Given the description of an element on the screen output the (x, y) to click on. 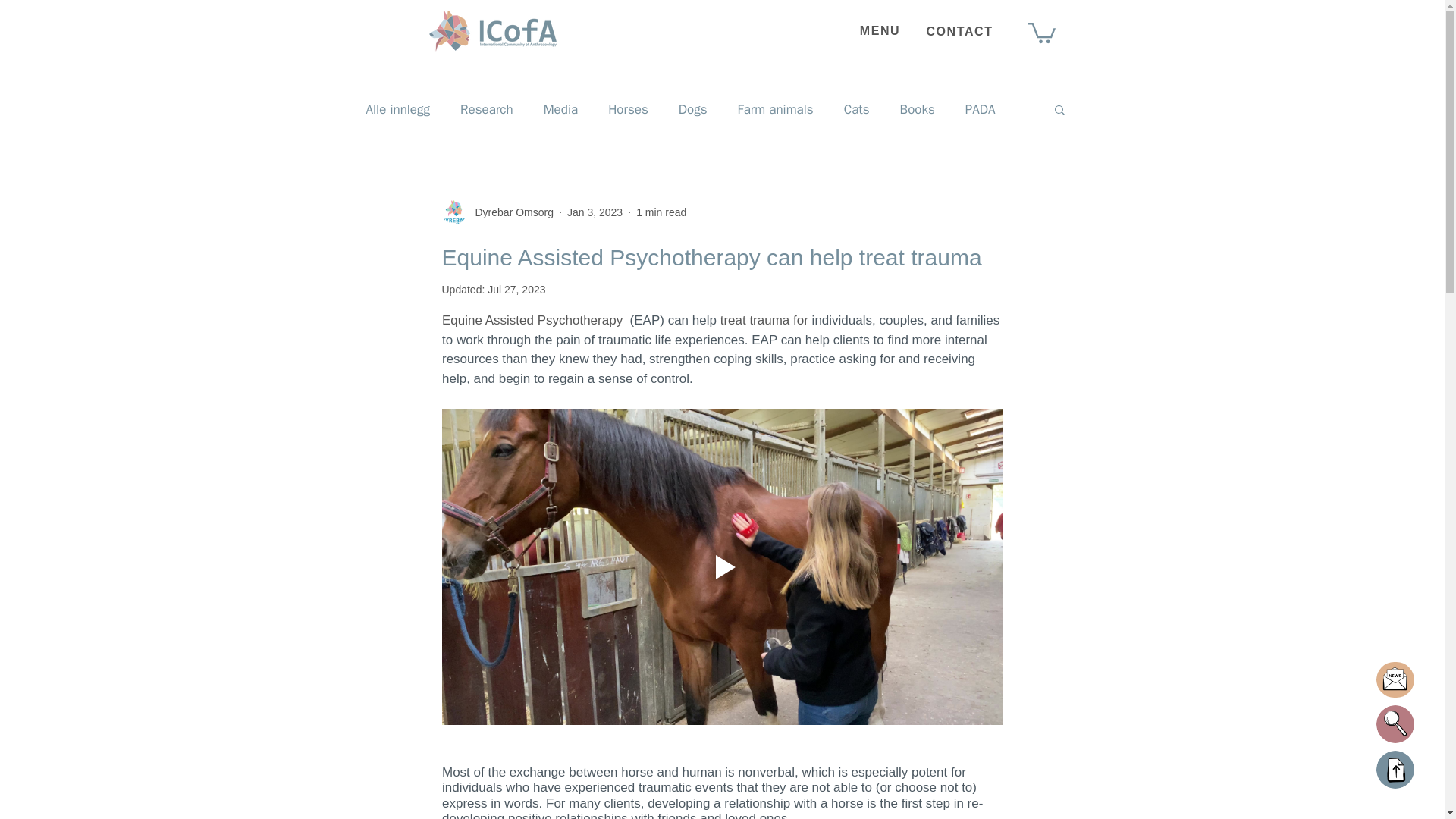
Jul 27, 2023 (515, 289)
Dyrebar Omsorg (497, 211)
Books (916, 108)
CONTACT (960, 30)
Dogs (692, 108)
Horses (627, 108)
Media (560, 108)
Cats (856, 108)
PADA (980, 108)
Jan 3, 2023 (595, 212)
